Given the description of an element on the screen output the (x, y) to click on. 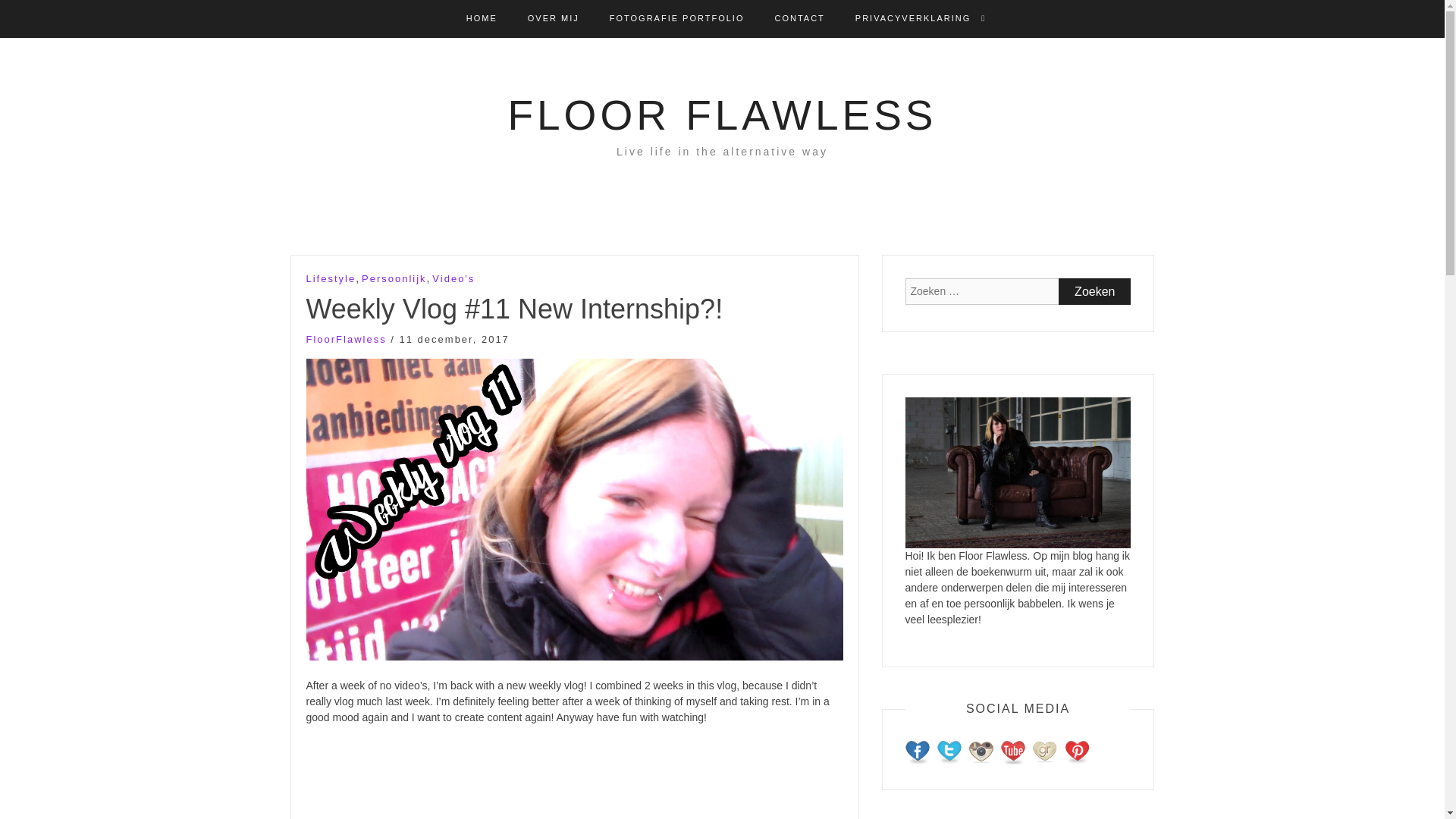
FOTOGRAFIE PORTFOLIO (677, 18)
Follow me on Instagram (980, 752)
FLOOR FLAWLESS (721, 114)
OVER MIJ (553, 18)
FloorFlawless (346, 338)
Lifestyle (330, 278)
CONTACT (799, 18)
Follow me on Goodreads (1044, 752)
Follow me on Twitter (948, 752)
PRIVACYVERKLARING (913, 18)
Persoonlijk (393, 278)
Follow me on YouTube (1013, 752)
Zoeken (1094, 291)
Video'S (453, 278)
Follow me on Facebook (917, 752)
